Given the description of an element on the screen output the (x, y) to click on. 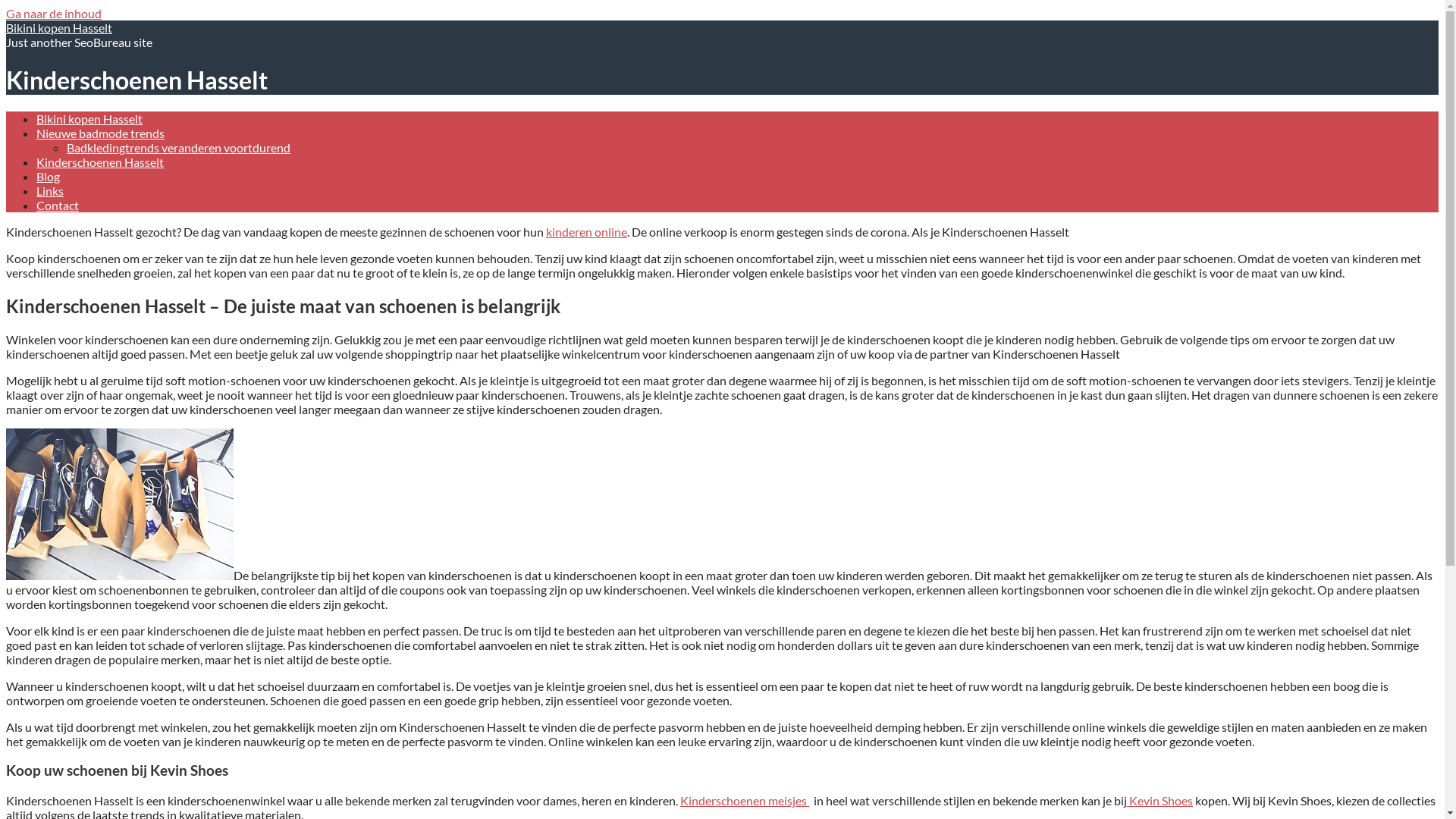
Kinderschoenen meisjes Element type: text (744, 800)
Bikini kopen Hasselt Element type: text (59, 27)
Ga naar de inhoud Element type: text (53, 13)
Bikini kopen Hasselt Element type: text (89, 118)
 Kevin Shoes Element type: text (1159, 800)
kinderen online Element type: text (586, 231)
Blog Element type: text (47, 176)
Nieuwe badmode trends Element type: text (100, 132)
Kinderschoenen Hasselt Element type: text (99, 161)
Links Element type: text (49, 190)
Badkledingtrends veranderen voortdurend Element type: text (178, 147)
Contact Element type: text (57, 204)
